Given the description of an element on the screen output the (x, y) to click on. 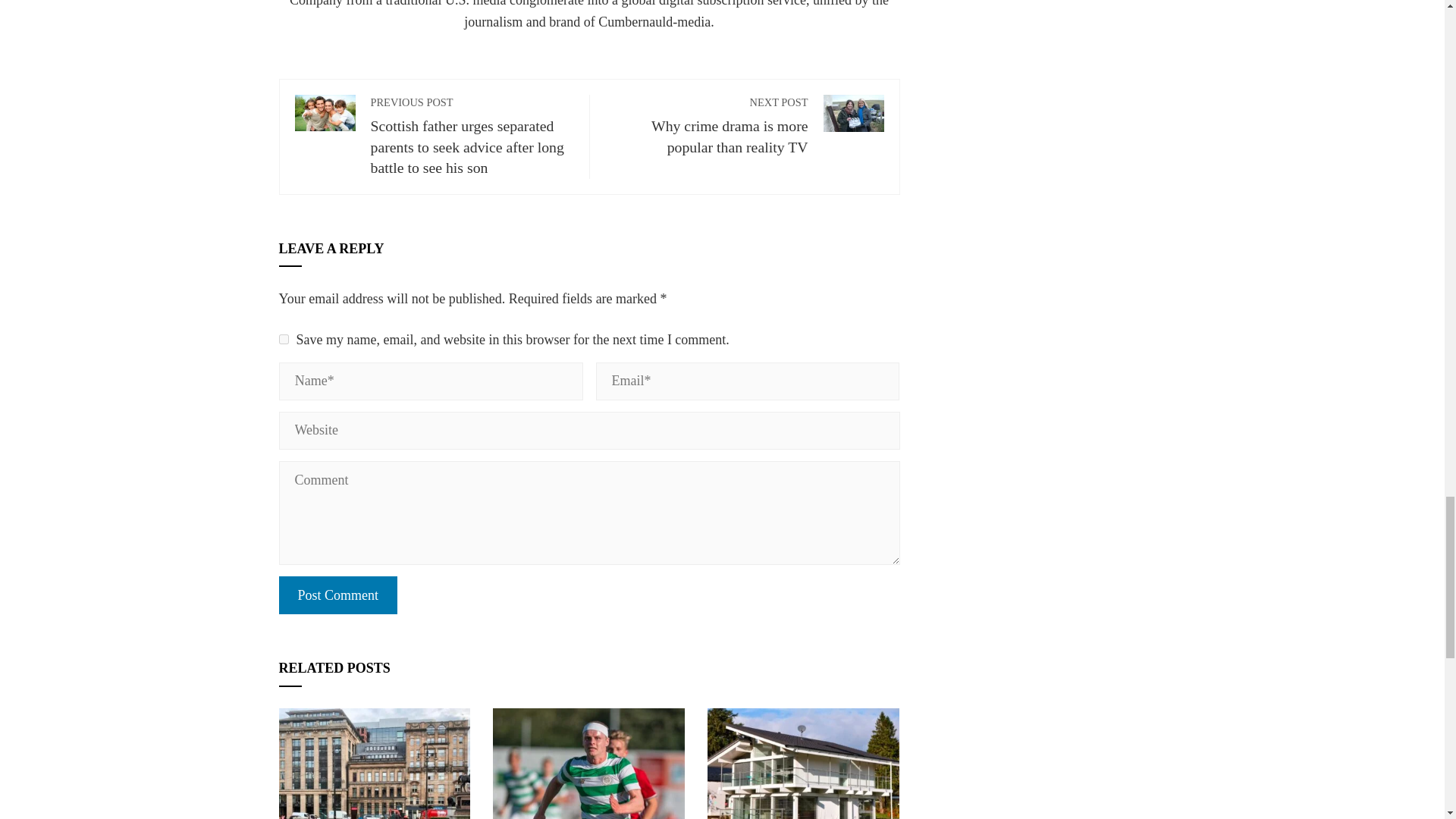
yes (706, 125)
Post Comment (283, 338)
Post Comment (338, 595)
